Given the description of an element on the screen output the (x, y) to click on. 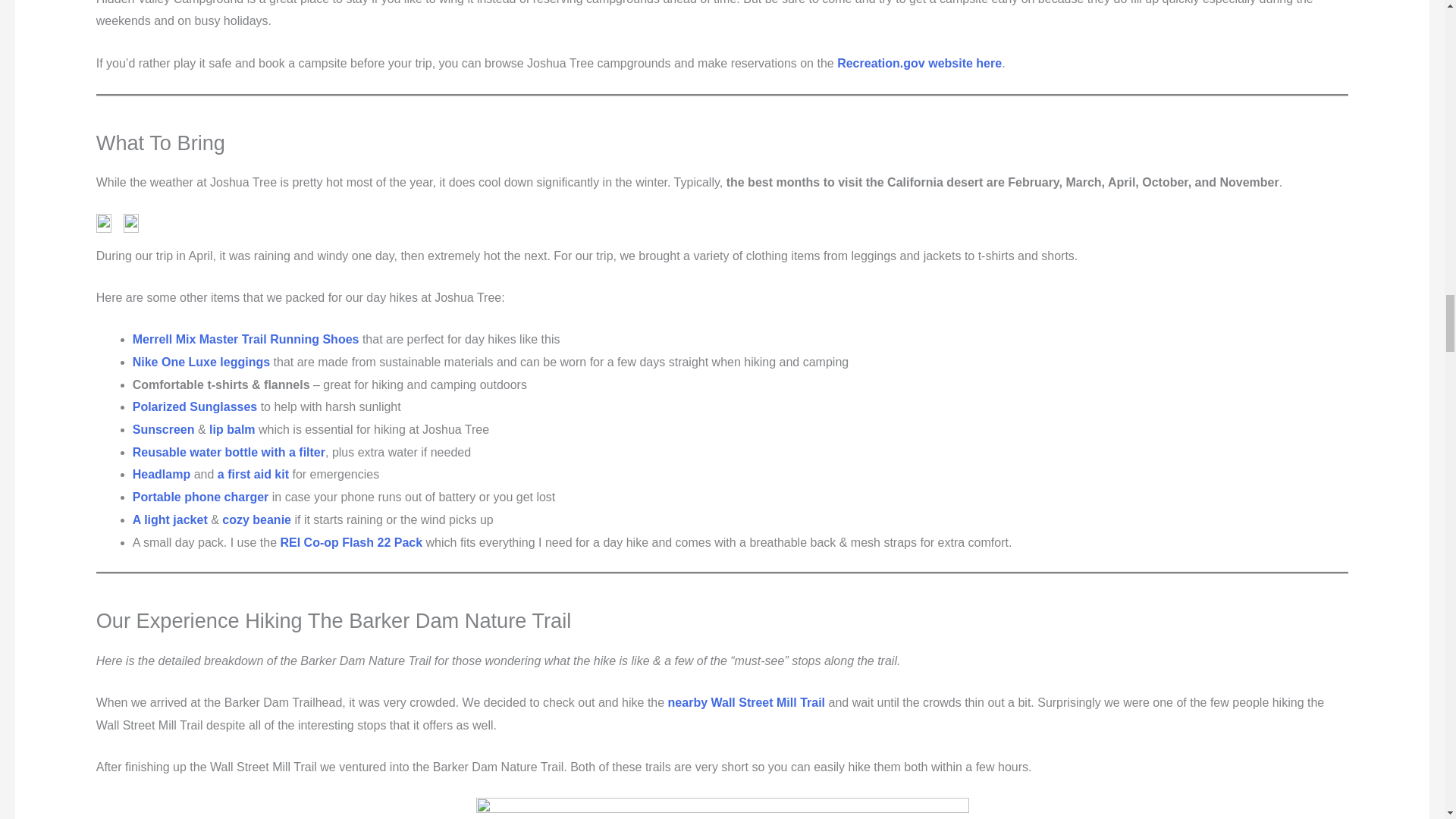
Recreation.gov website here (919, 62)
Sunscreen (163, 429)
Reusable water bottle with a filter (228, 451)
cozy beanie (256, 519)
A light jacket (170, 519)
Merrell Mix Master Trail Running Shoes (245, 338)
Headlamp  (162, 473)
 a first aid kit (251, 473)
lip balm (231, 429)
Polarized Sunglasses  (196, 406)
